Given the description of an element on the screen output the (x, y) to click on. 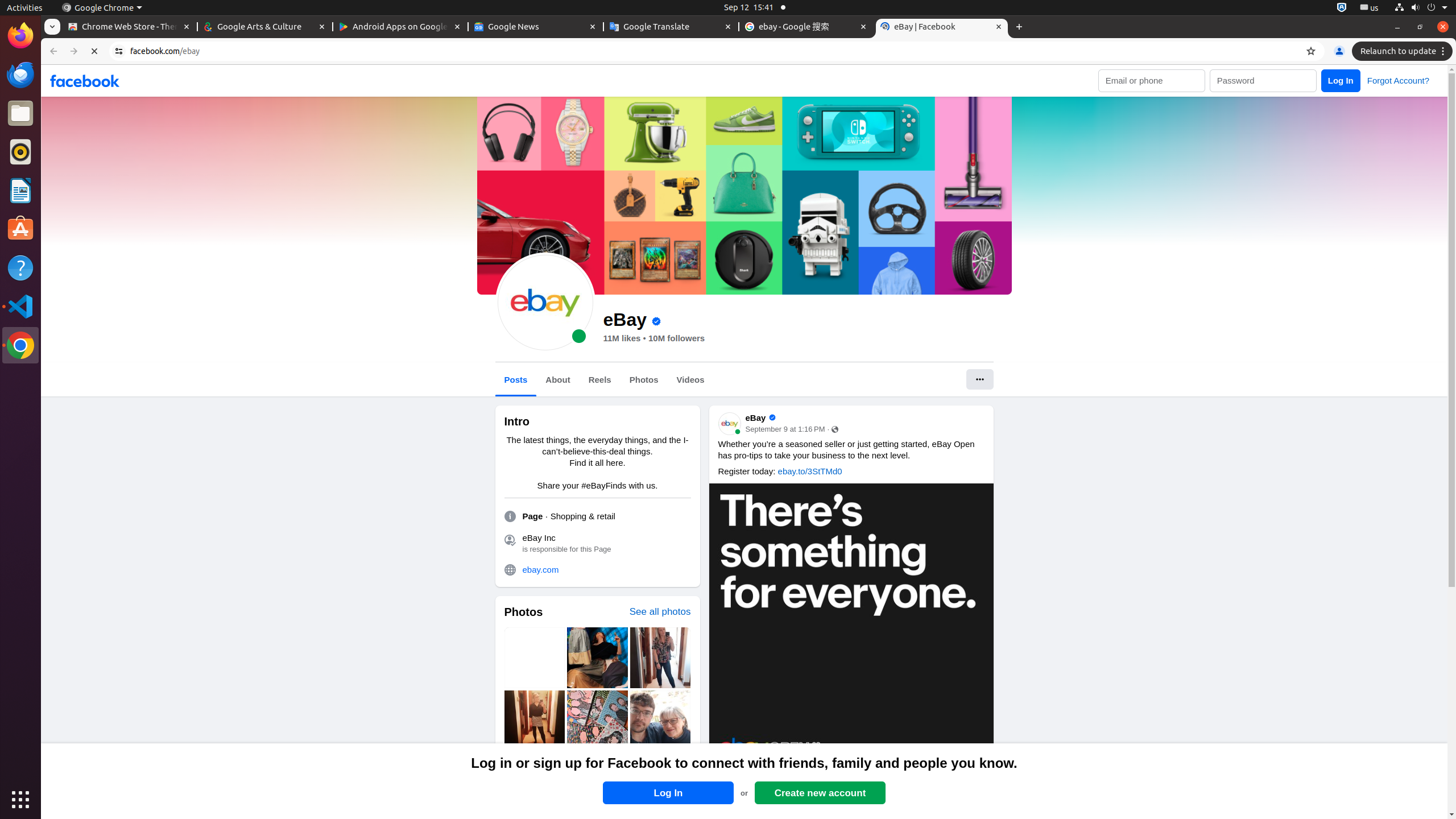
Thunderbird Mail Element type: push-button (20, 74)
Google Chrome Element type: push-button (20, 344)
Facebook Element type: link (85, 80)
Ubuntu Software Element type: push-button (20, 229)
Comment Element type: push-button (917, 802)
